Given the description of an element on the screen output the (x, y) to click on. 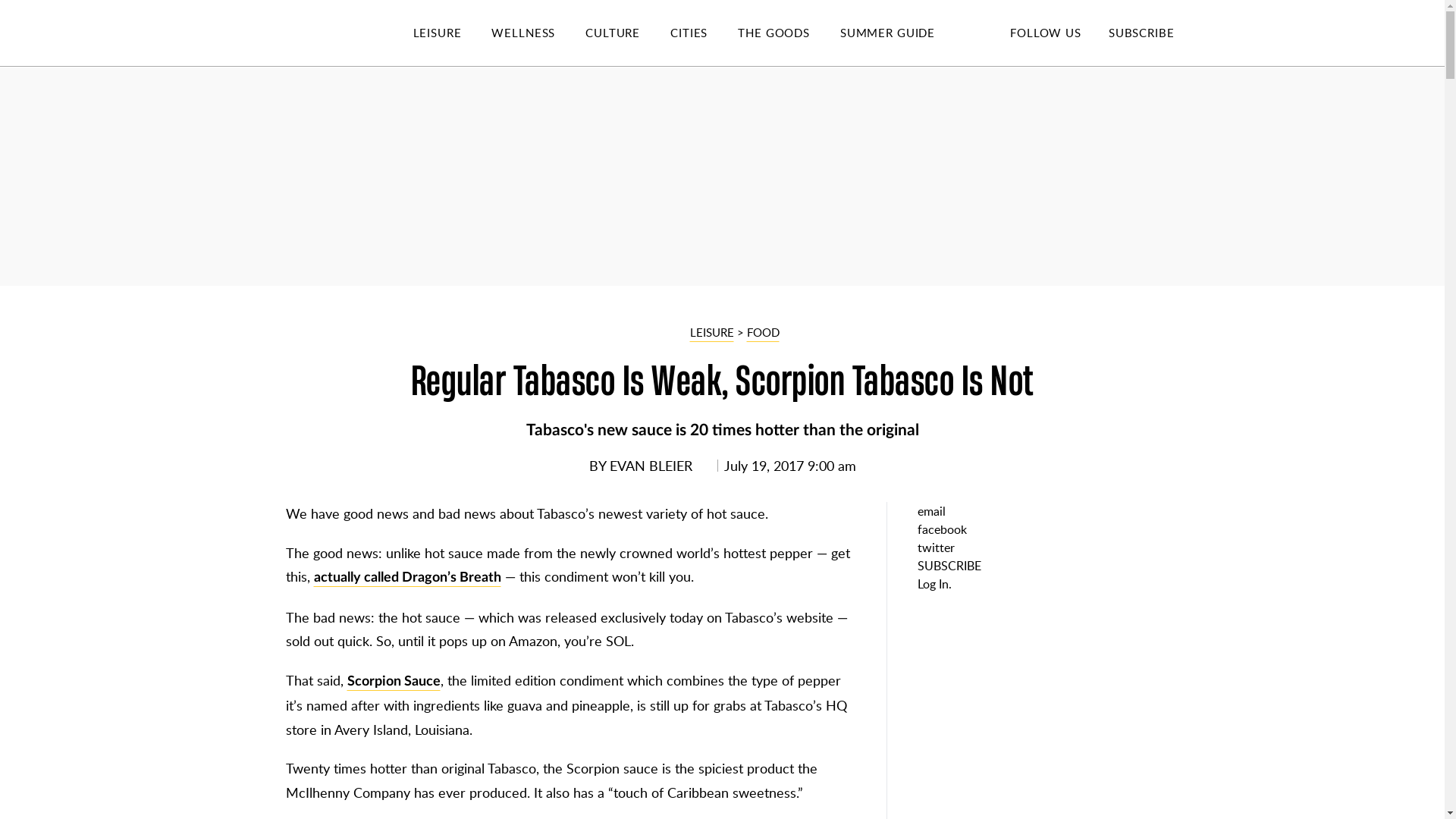
THE GOODS (789, 32)
SUMMER GUIDE (902, 32)
SUBSCRIBE (1141, 31)
CITIES (703, 32)
LEISURE (452, 32)
FOLLOW US (1045, 32)
WELLNESS (538, 32)
CULTURE (627, 32)
